Given the description of an element on the screen output the (x, y) to click on. 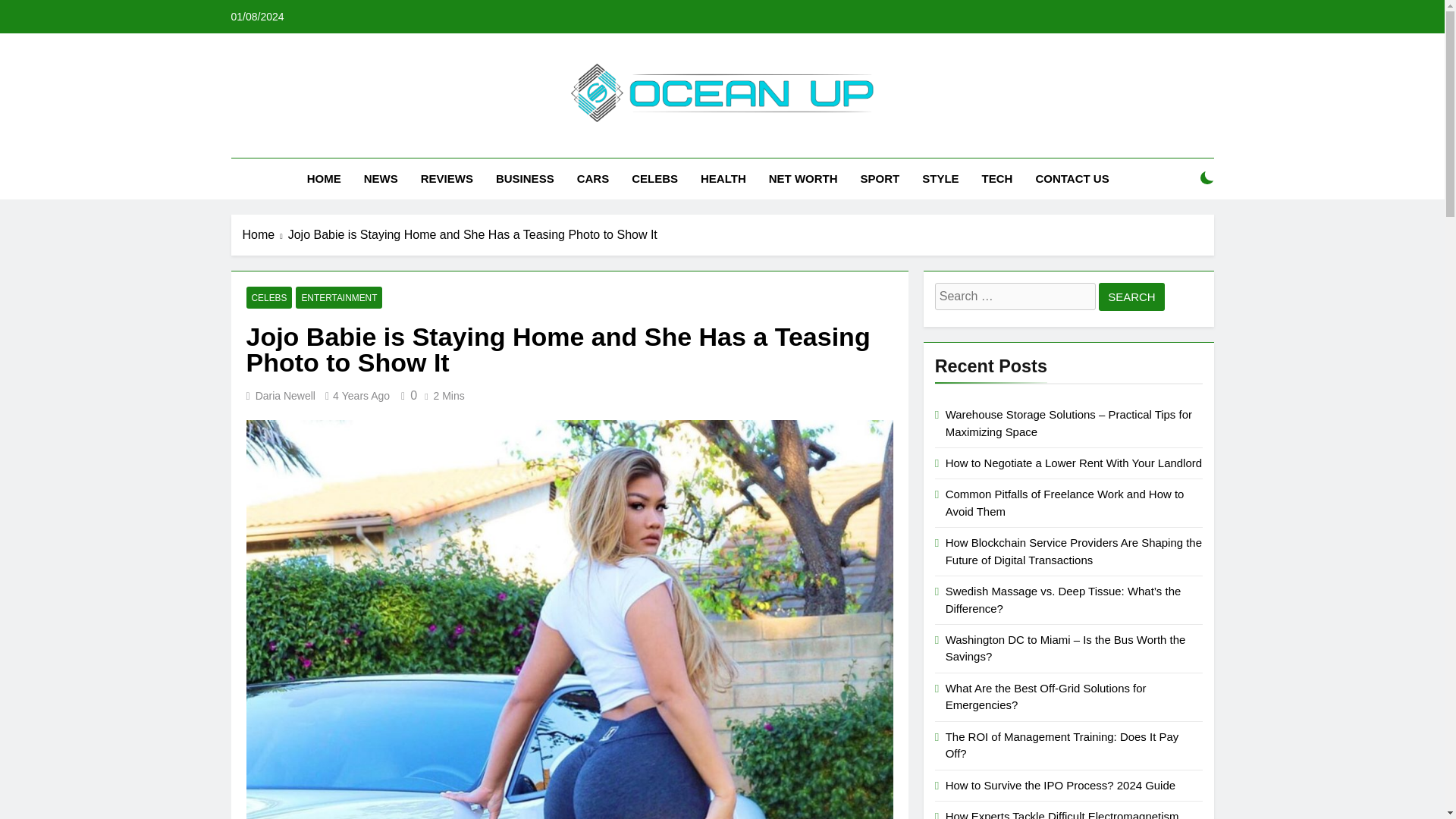
Search (1131, 296)
CELEBS (654, 178)
REVIEWS (446, 178)
CONTACT US (1071, 178)
Search (1131, 296)
4 Years Ago (361, 395)
Oceanup (545, 143)
Daria Newell (285, 395)
TECH (998, 178)
CELEBS (269, 297)
SPORT (879, 178)
Home (265, 235)
BUSINESS (525, 178)
0 (406, 395)
HEALTH (722, 178)
